Given the description of an element on the screen output the (x, y) to click on. 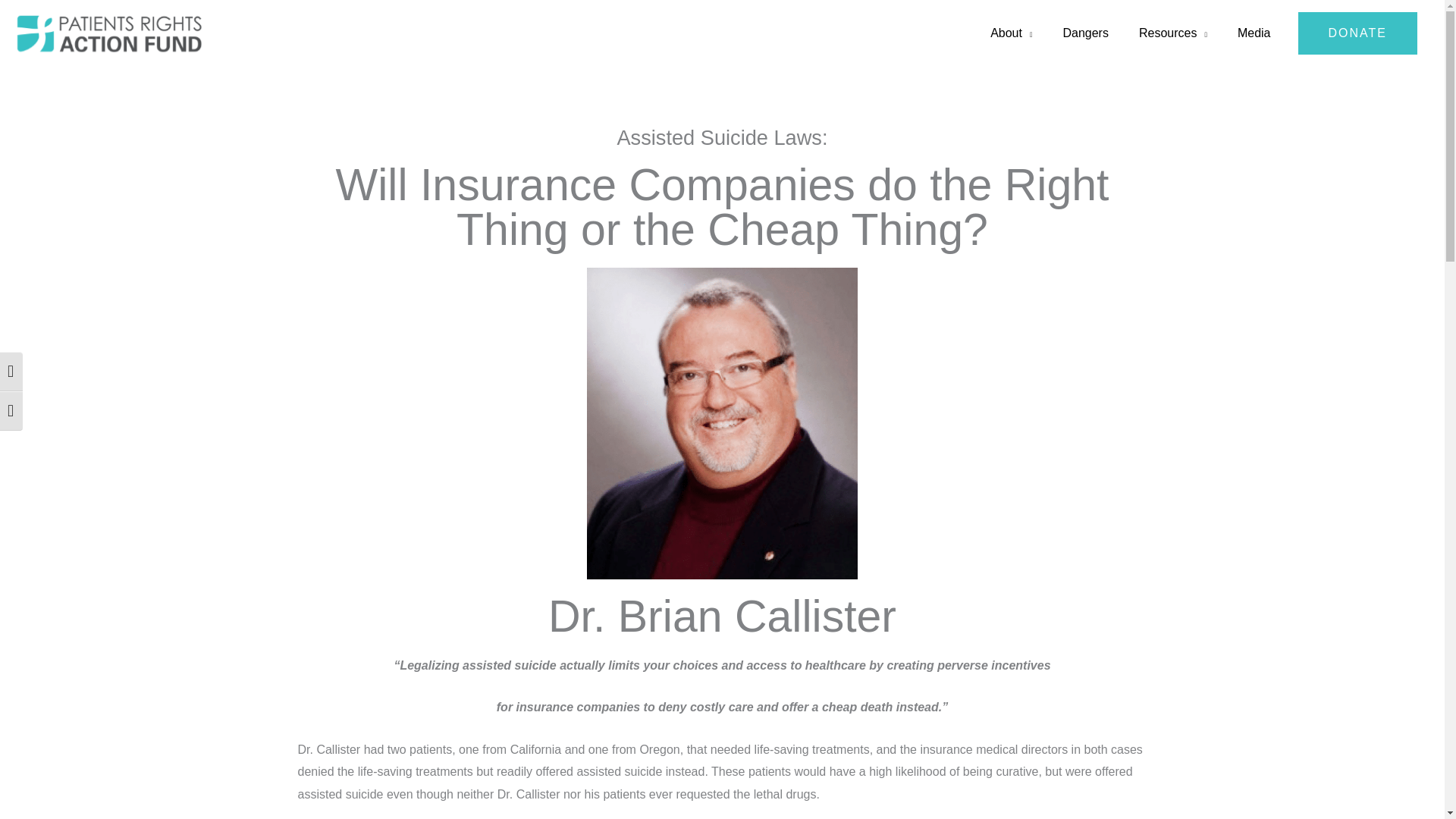
DONATE (1357, 33)
About (1010, 33)
Dangers (1084, 33)
Media (1254, 33)
Resources (1173, 33)
